Given the description of an element on the screen output the (x, y) to click on. 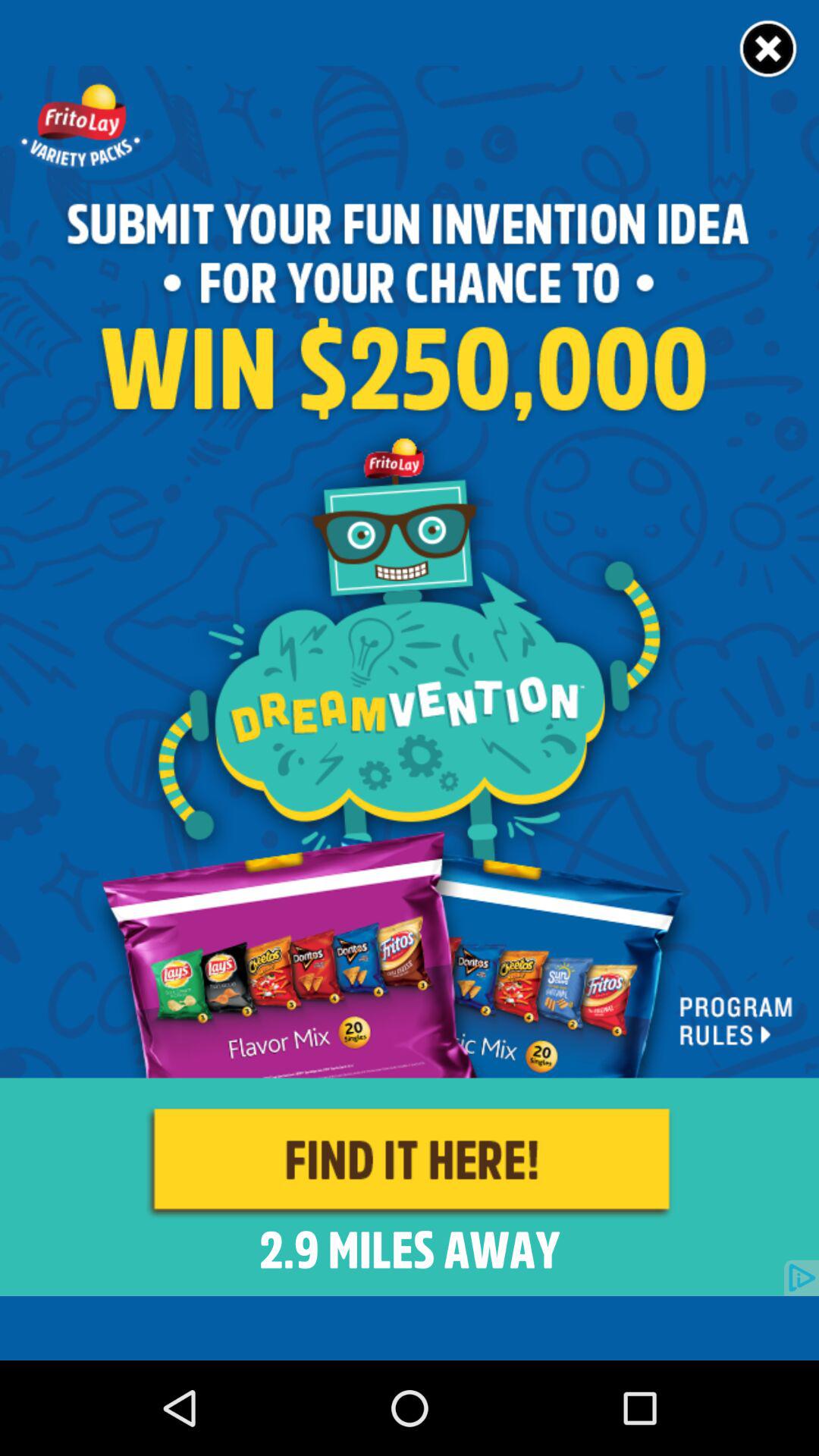
close page (769, 49)
